Given the description of an element on the screen output the (x, y) to click on. 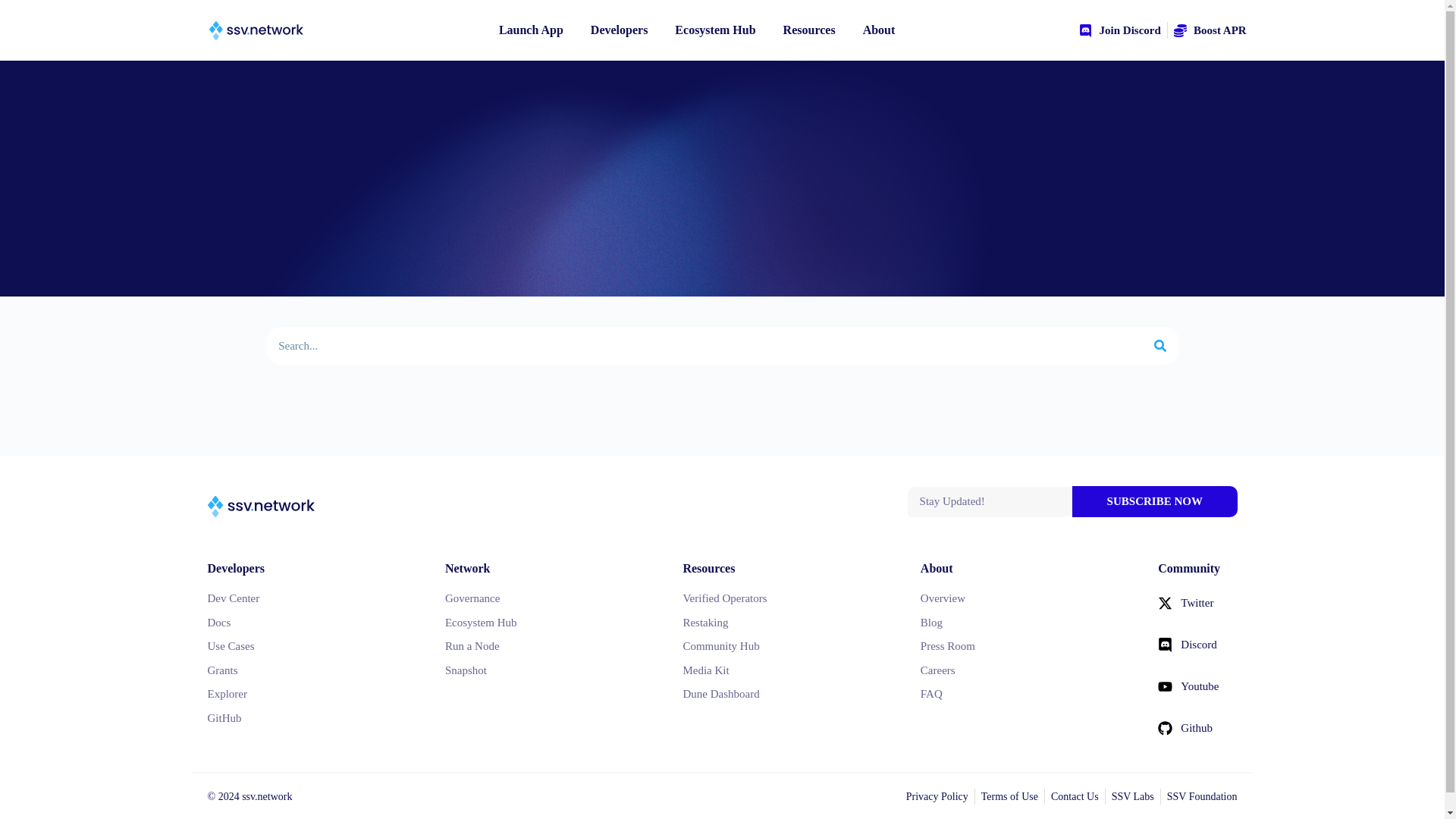
Join Discord (1119, 30)
Dev Center (311, 598)
Launch App (531, 30)
Boost APR (1209, 30)
Docs (311, 622)
SUBSCRIBE NOW (1153, 501)
Ecosystem Hub (715, 30)
